Given the description of an element on the screen output the (x, y) to click on. 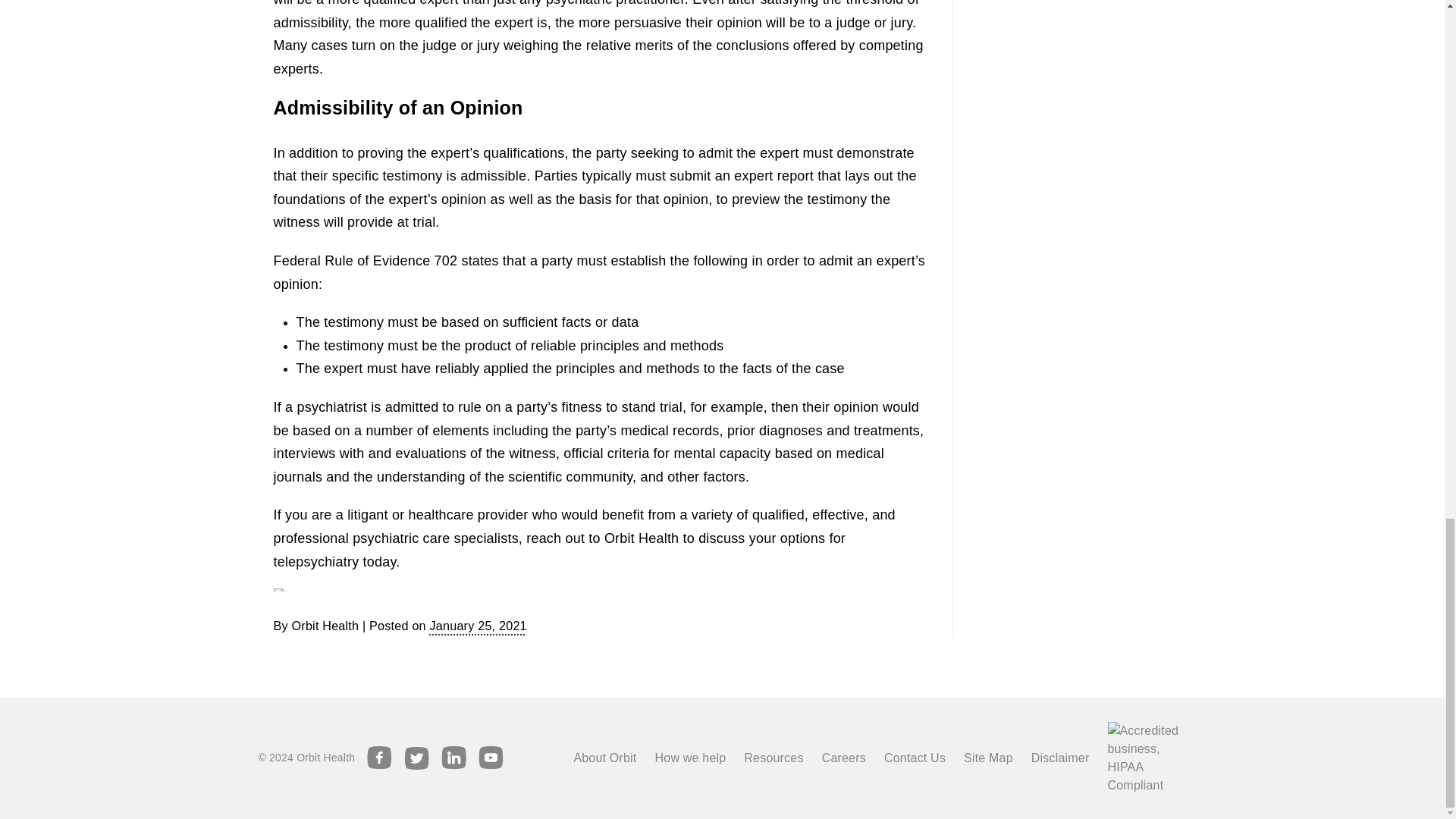
2021-01-25T16:49:34-0800 (477, 625)
